Given the description of an element on the screen output the (x, y) to click on. 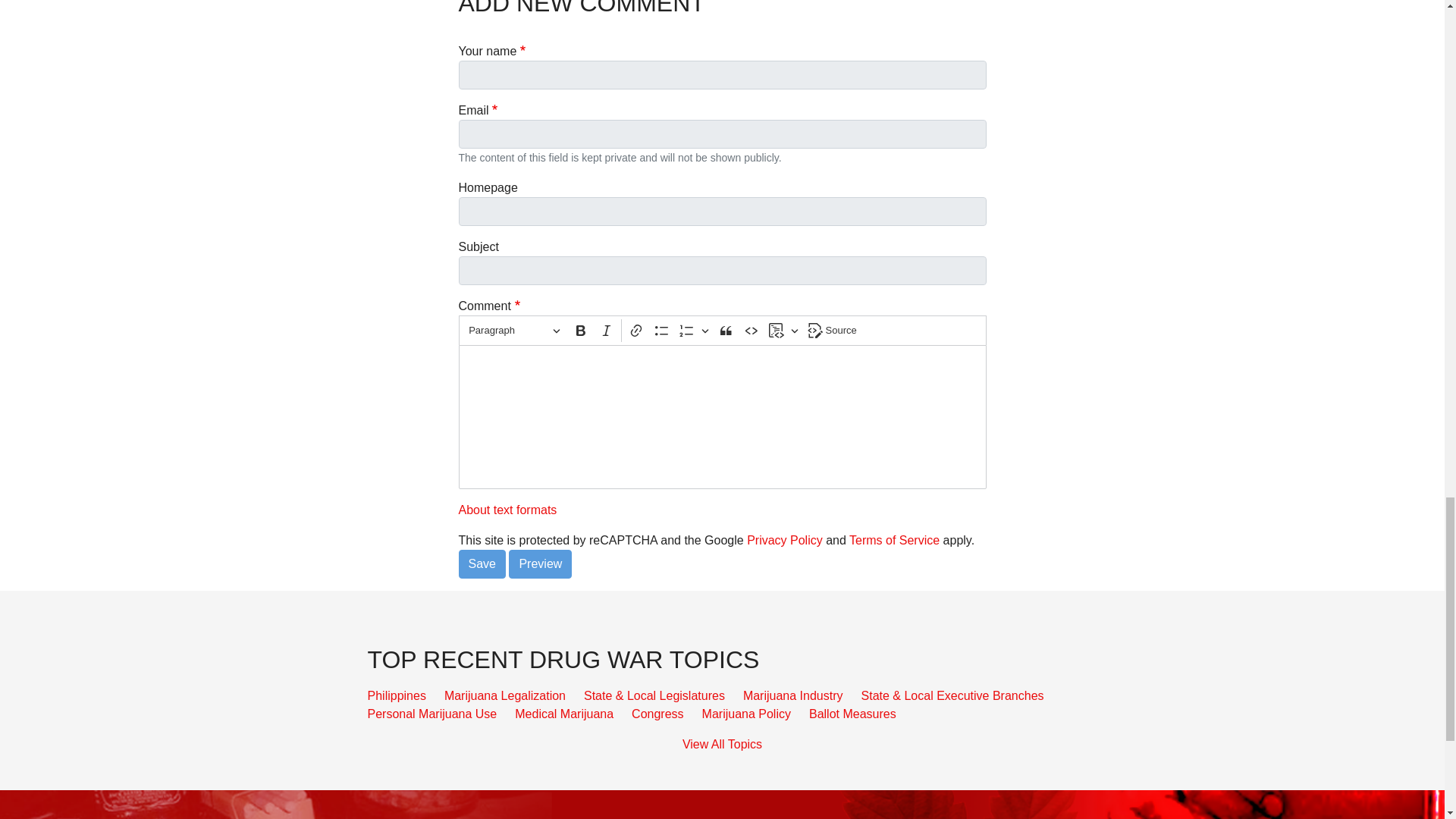
Preview (540, 563)
Save (481, 563)
